Given the description of an element on the screen output the (x, y) to click on. 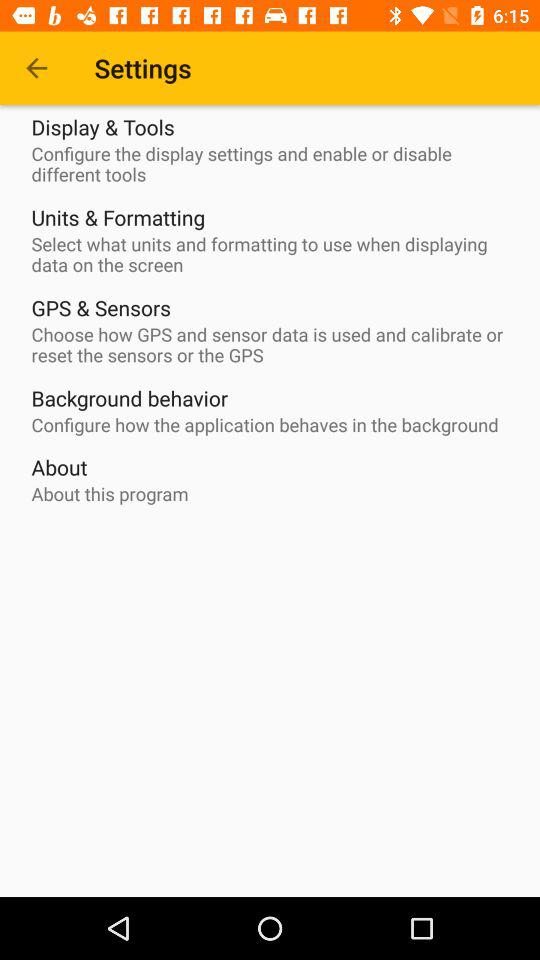
turn on icon below about icon (109, 493)
